Given the description of an element on the screen output the (x, y) to click on. 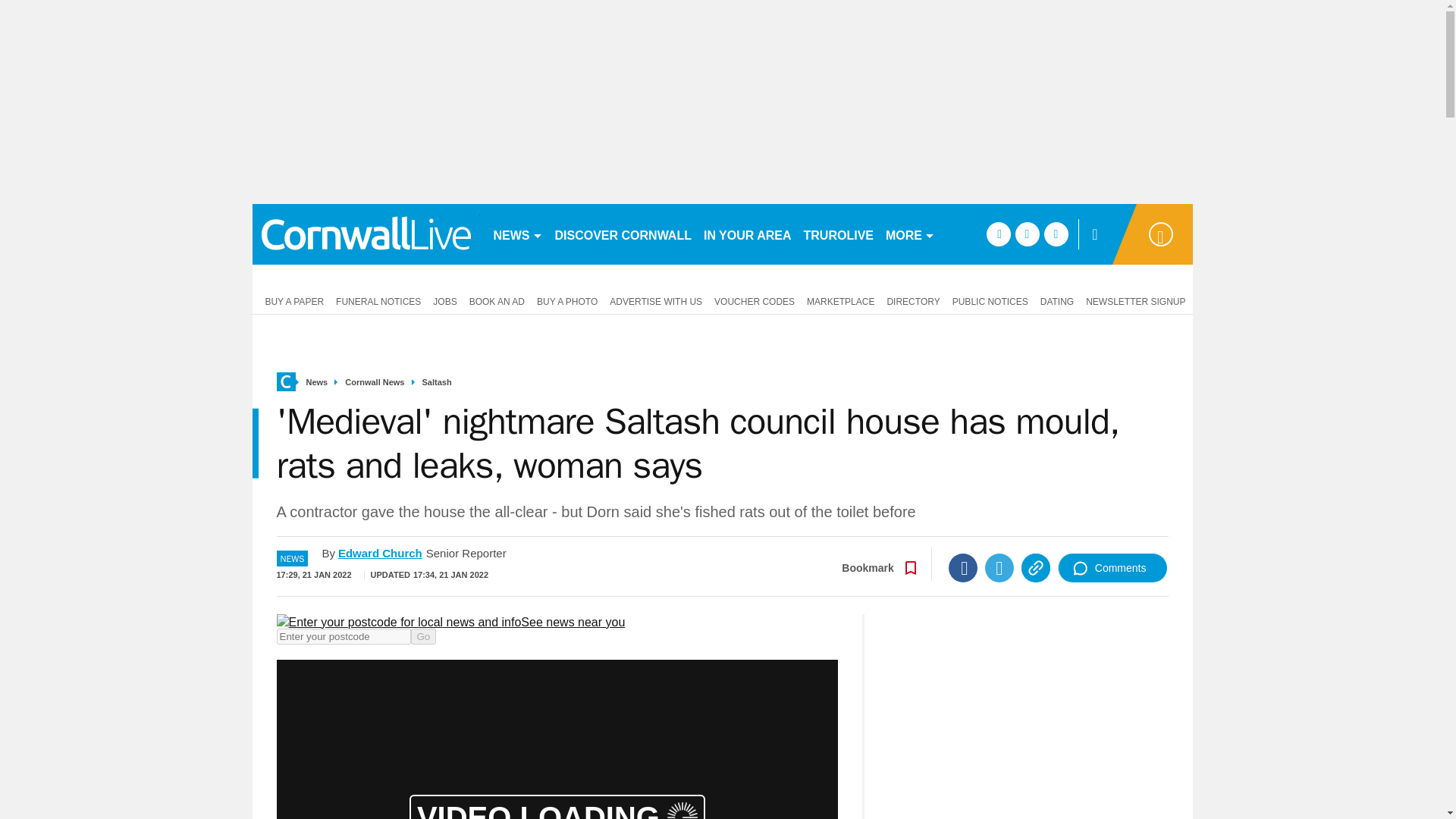
MORE (909, 233)
DISCOVER CORNWALL (622, 233)
Comments (1112, 567)
Go (423, 636)
instagram (1055, 233)
IN YOUR AREA (747, 233)
Twitter (999, 567)
Facebook (962, 567)
TRUROLIVE (838, 233)
cornwalllive (365, 233)
twitter (1026, 233)
facebook (997, 233)
NEWS (517, 233)
